Given the description of an element on the screen output the (x, y) to click on. 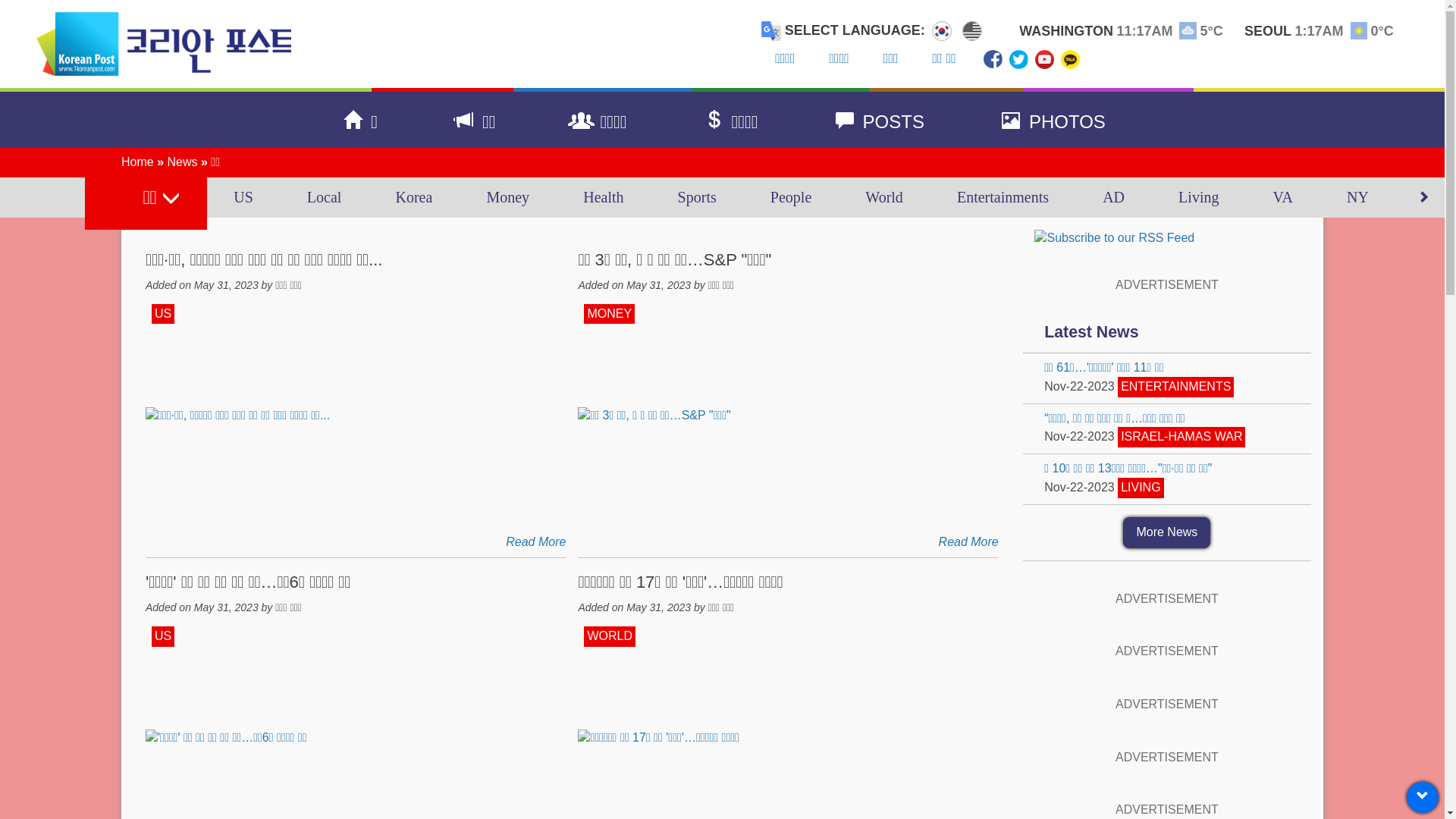
Health Element type: text (603, 197)
Korea Element type: text (413, 197)
Living Element type: text (1198, 197)
Subscribe to our RSS Feed Element type: hover (1114, 238)
Subscribe to Us on YouTube Element type: hover (1044, 59)
Scroll to Top Element type: hover (1422, 796)
The Korean Post Element type: hover (168, 43)
US Element type: text (162, 314)
News Element type: text (181, 161)
PHOTOS Element type: text (1051, 119)
Follow Us on Twitter Element type: hover (1018, 59)
Translate this page with Google Translate Element type: hover (771, 30)
ISRAEL-HAMAS WAR Element type: text (1181, 436)
NY Element type: text (1357, 197)
WORLD Element type: text (609, 636)
People Element type: text (790, 197)
Entertainments Element type: text (1002, 197)
Money Element type: text (507, 197)
Local Element type: text (323, 197)
POSTS Element type: text (877, 119)
Select Language English Element type: hover (972, 30)
Korean Element type: hover (941, 29)
VA Element type: text (1282, 197)
ENTERTAINMENTS Element type: text (1175, 386)
Find Us on Facebook Element type: hover (992, 59)
More News Element type: text (1166, 532)
Find Us on Facebook Element type: hover (992, 59)
Sports Element type: text (696, 197)
Read More Element type: text (968, 541)
US Element type: text (162, 636)
Read More Element type: text (535, 541)
English Element type: hover (971, 29)
US Element type: text (243, 197)
MONEY Element type: text (608, 314)
Follow Us on Twitter Element type: hover (1018, 59)
Subscribe to Us on YouTube Element type: hover (1044, 59)
World Element type: text (884, 197)
Select Language Korean Element type: hover (941, 30)
LIVING Element type: text (1140, 487)
The Korean Post Element type: hover (163, 43)
AD Element type: text (1113, 197)
Home Element type: text (137, 161)
